Given the description of an element on the screen output the (x, y) to click on. 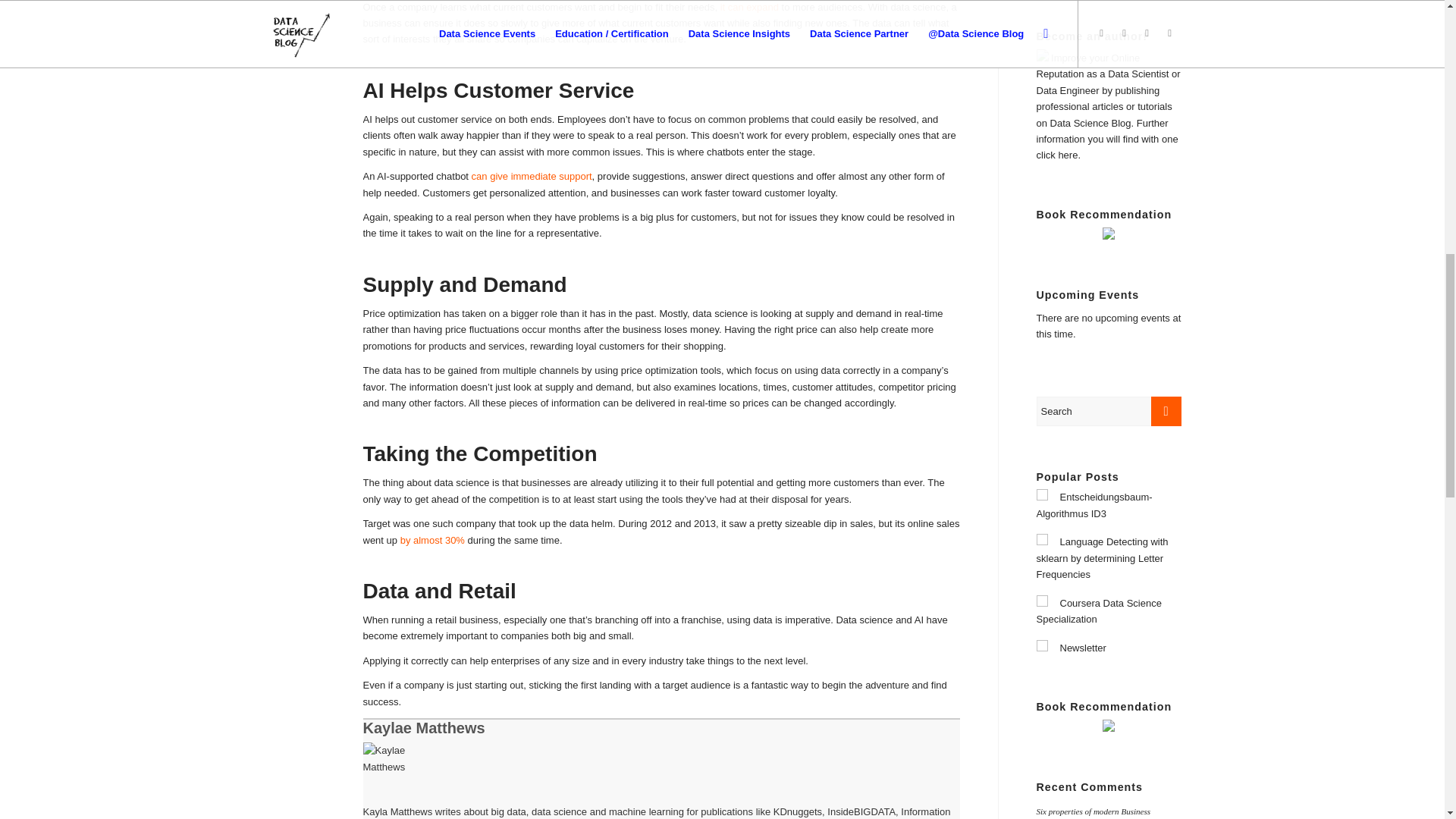
Kaylae Matthews (423, 727)
All posts by Kaylae Matthews (423, 727)
it can expand (749, 7)
can give immediate support (531, 175)
